Given the description of an element on the screen output the (x, y) to click on. 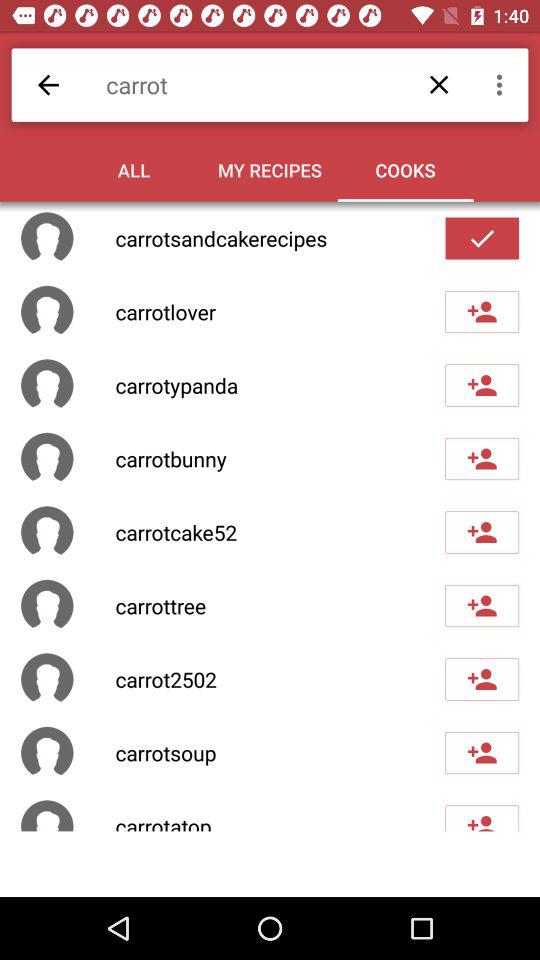
go back (48, 84)
